Given the description of an element on the screen output the (x, y) to click on. 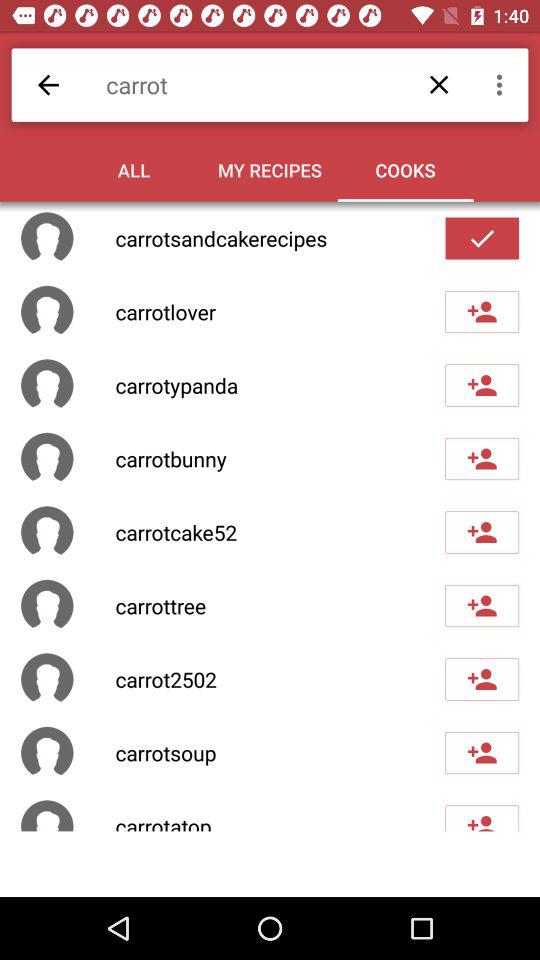
go back (48, 84)
